Given the description of an element on the screen output the (x, y) to click on. 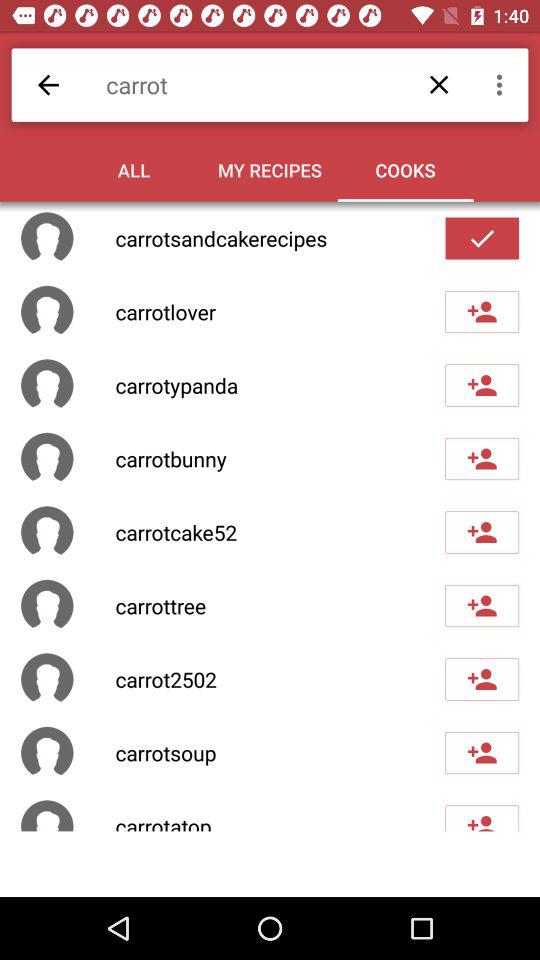
go back (48, 84)
